Given the description of an element on the screen output the (x, y) to click on. 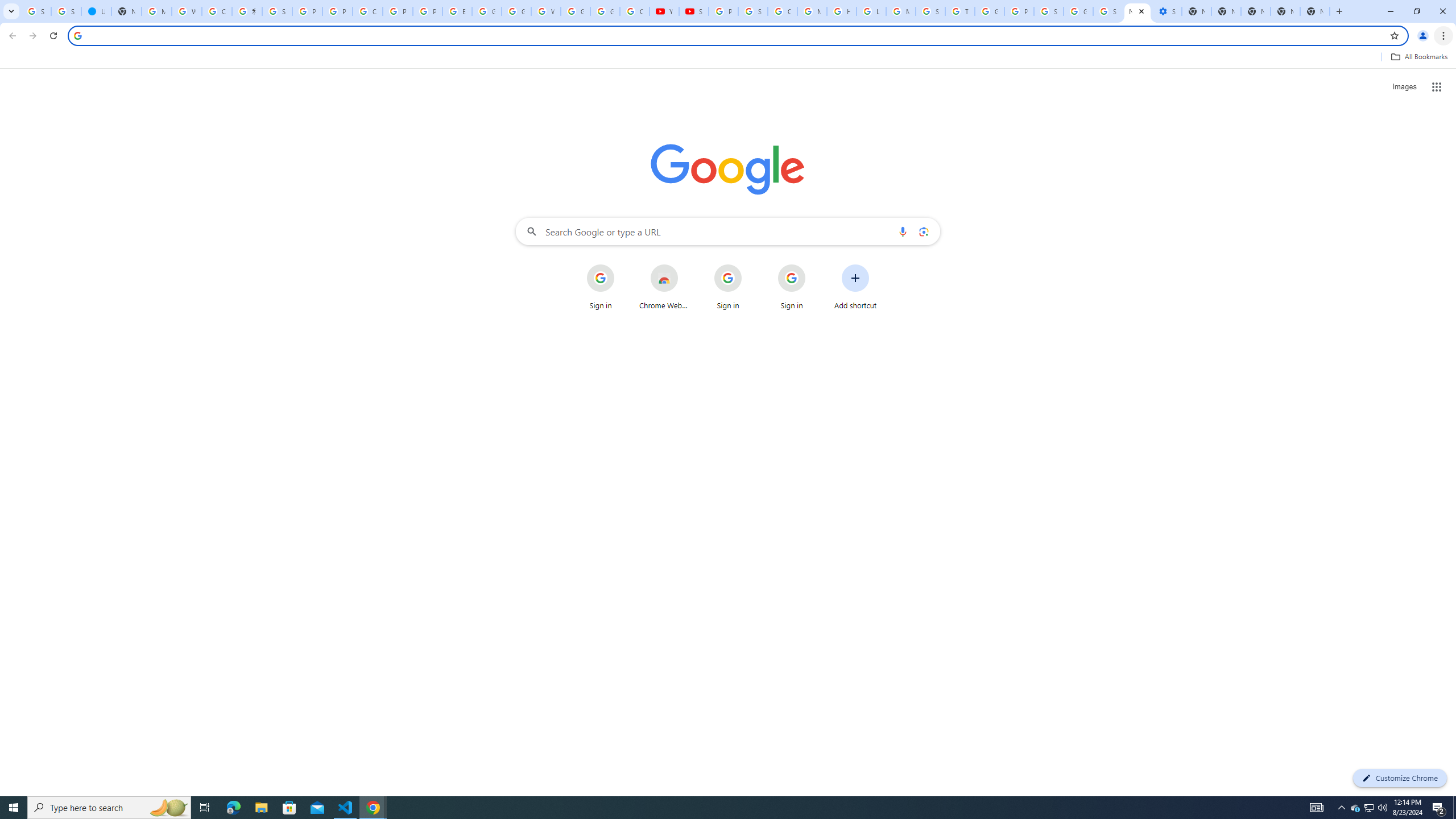
Welcome to My Activity (545, 11)
Bookmarks (728, 58)
Who is my administrator? - Google Account Help (185, 11)
More actions for Sign in shortcut (814, 265)
Chrome Web Store (663, 287)
YouTube (664, 11)
Search Google or type a URL (727, 230)
